Given the description of an element on the screen output the (x, y) to click on. 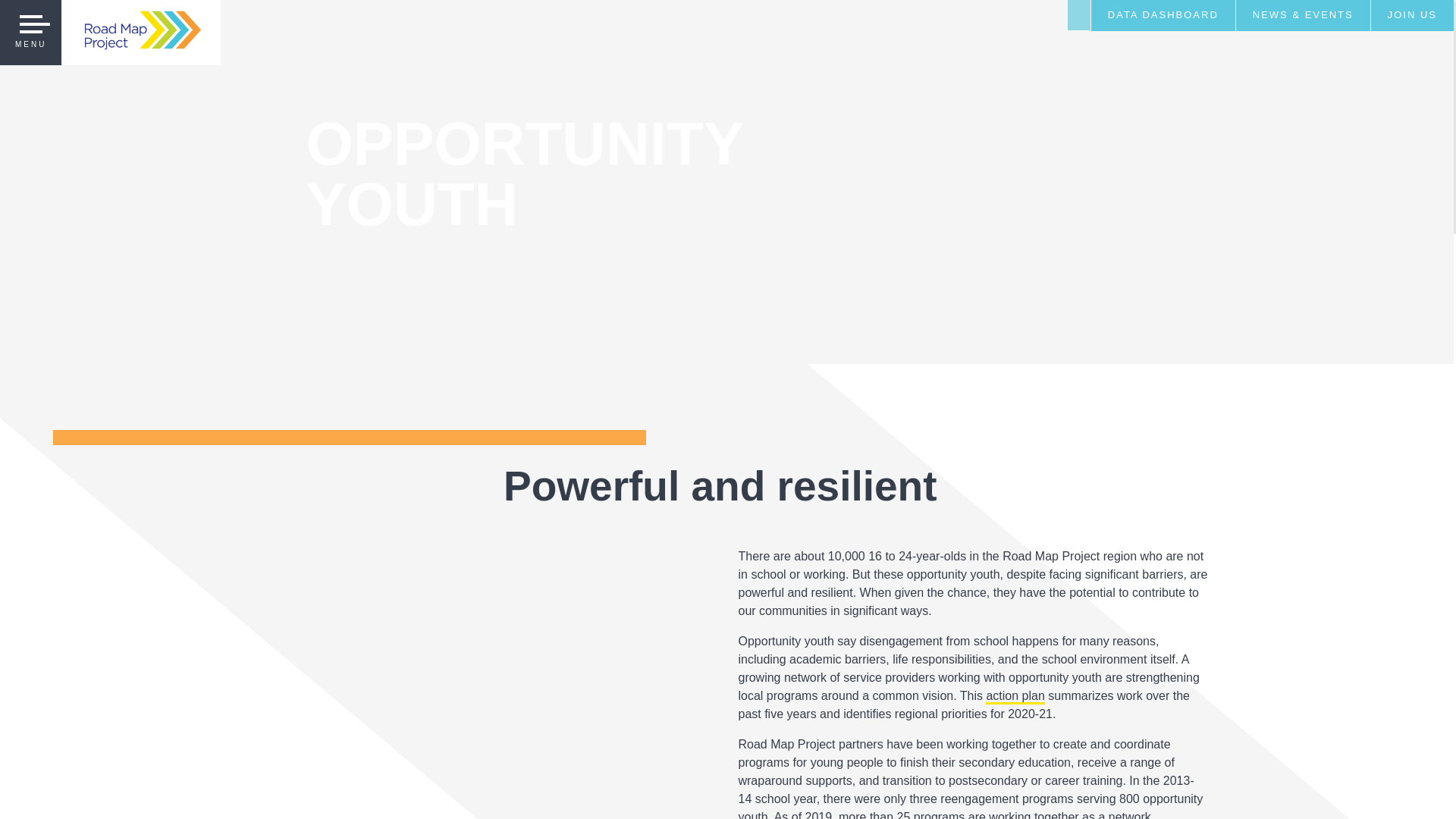
MENU (30, 32)
action plan (1014, 696)
network (1129, 814)
DATA DASHBOARD (1163, 15)
